Given the description of an element on the screen output the (x, y) to click on. 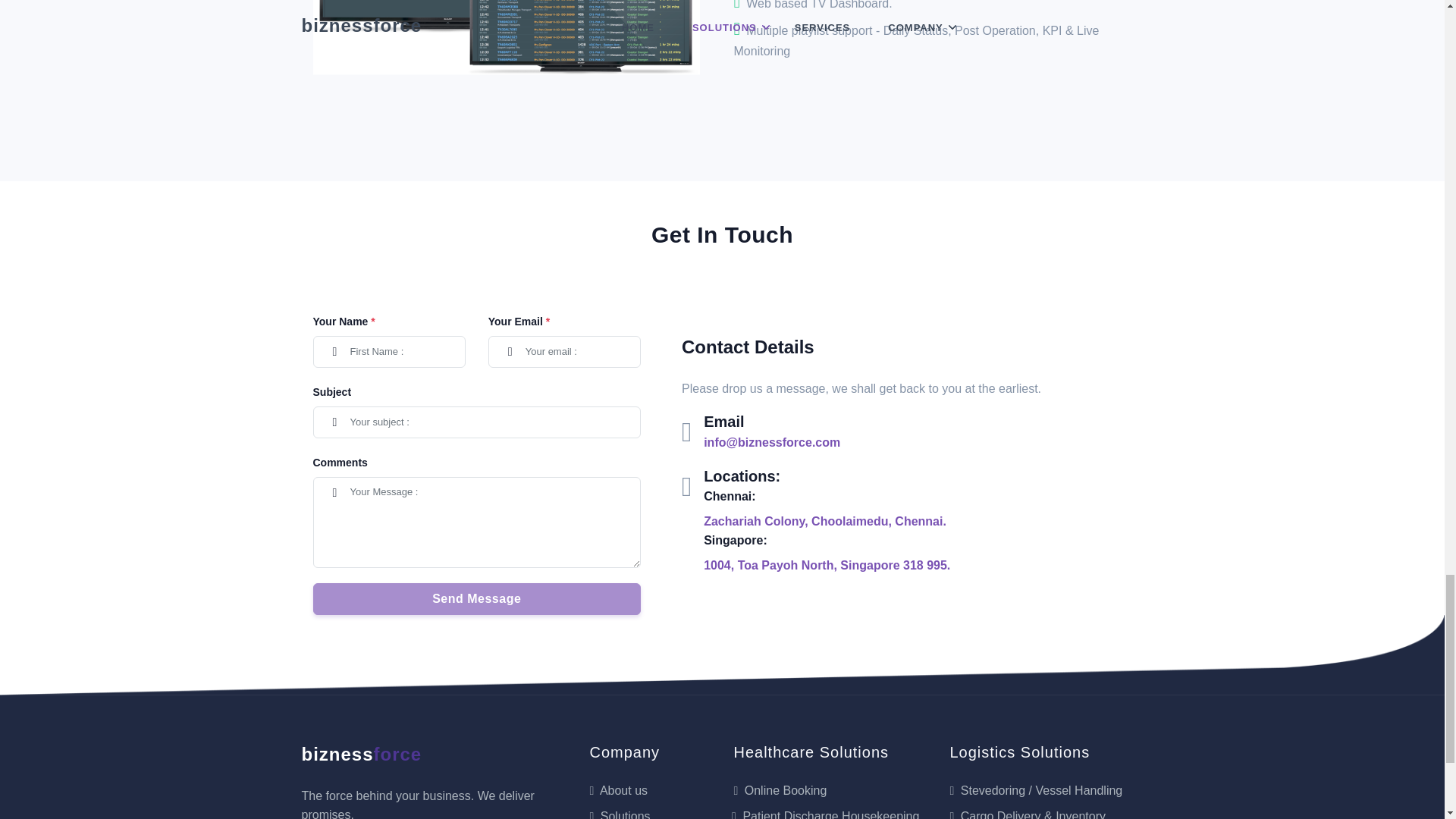
1004, Toa Payoh North, Singapore 318 995. (826, 564)
About us (618, 789)
Zachariah Colony, Choolaimedu, Chennai. (824, 521)
Send Message (476, 599)
Solutions (619, 814)
Patient Discharge Housekeeping (825, 814)
biznessforce (361, 754)
Online Booking (780, 789)
